Given the description of an element on the screen output the (x, y) to click on. 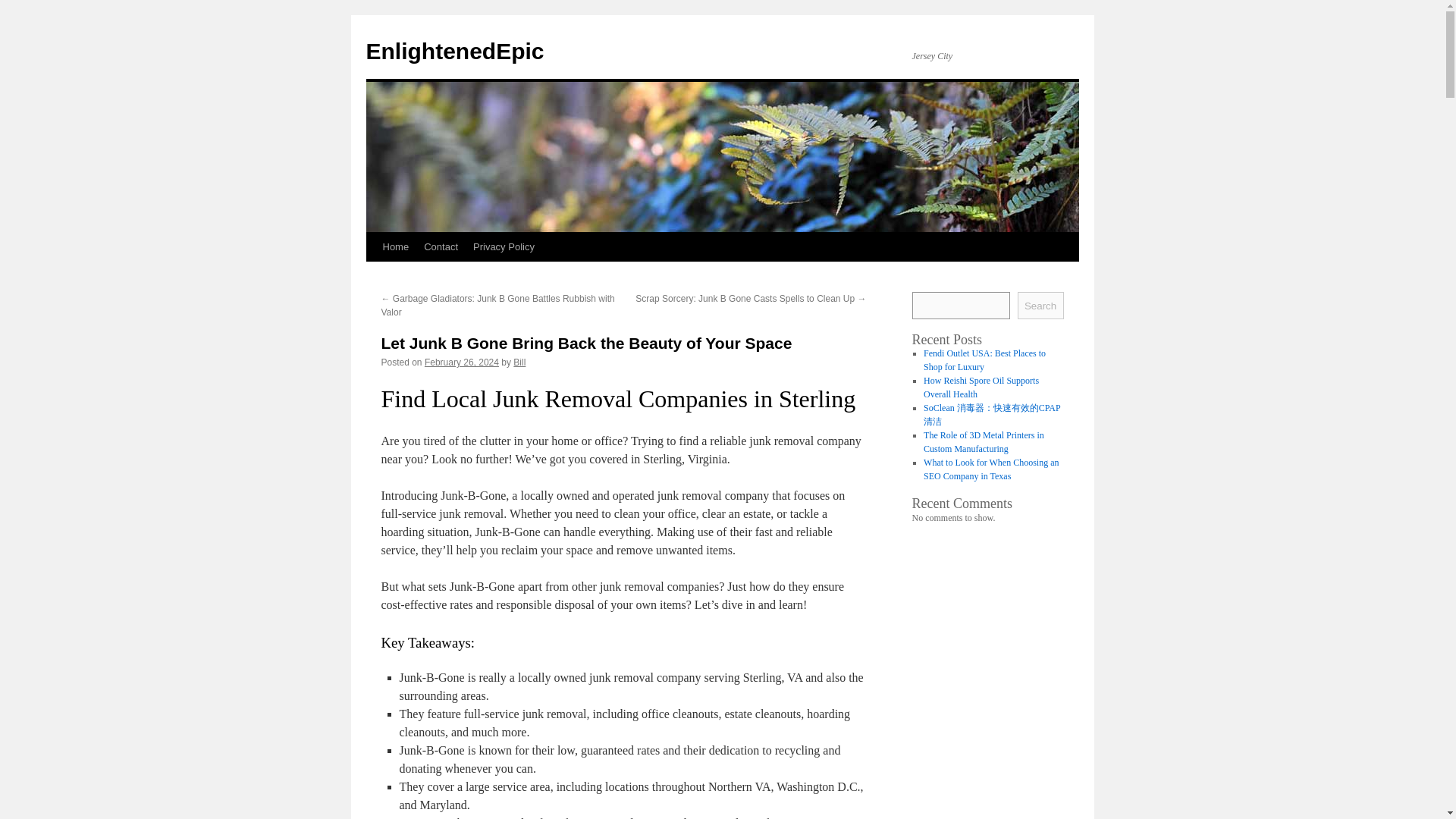
Home (395, 246)
February 26, 2024 (462, 362)
Search (1040, 305)
Privacy Policy (503, 246)
Fendi Outlet USA: Best Places to Shop for Luxury (984, 360)
How Reishi Spore Oil Supports Overall Health (981, 387)
Contact (440, 246)
8:54 pm (462, 362)
What to Look for When Choosing an SEO Company in Texas (990, 469)
The Role of 3D Metal Printers in Custom Manufacturing (983, 441)
Bill (519, 362)
EnlightenedEpic (454, 50)
View all posts by Bill (519, 362)
